Given the description of an element on the screen output the (x, y) to click on. 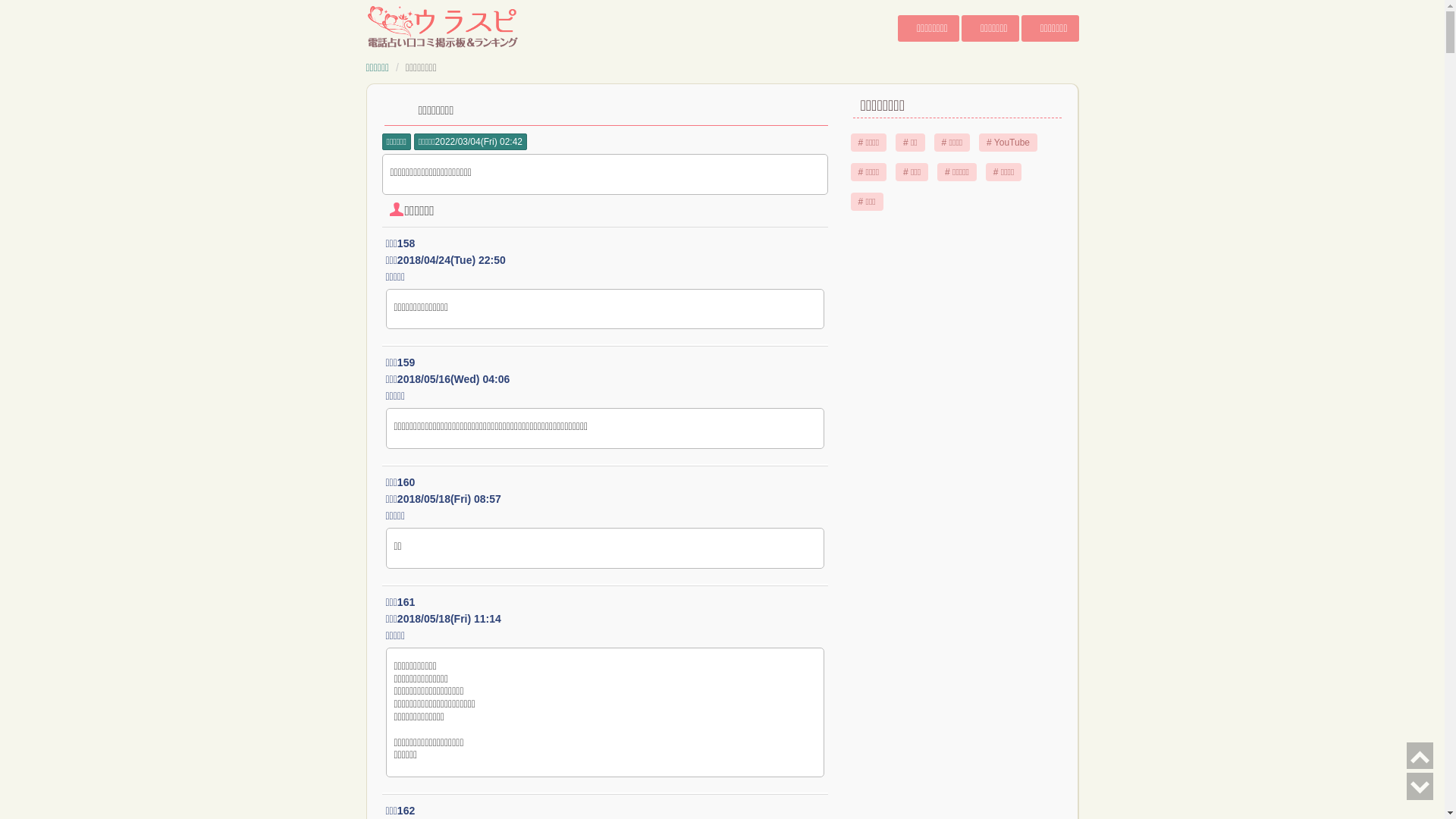
Advertisement Element type: hover (956, 456)
# YouTube Element type: text (1008, 142)
